Given the description of an element on the screen output the (x, y) to click on. 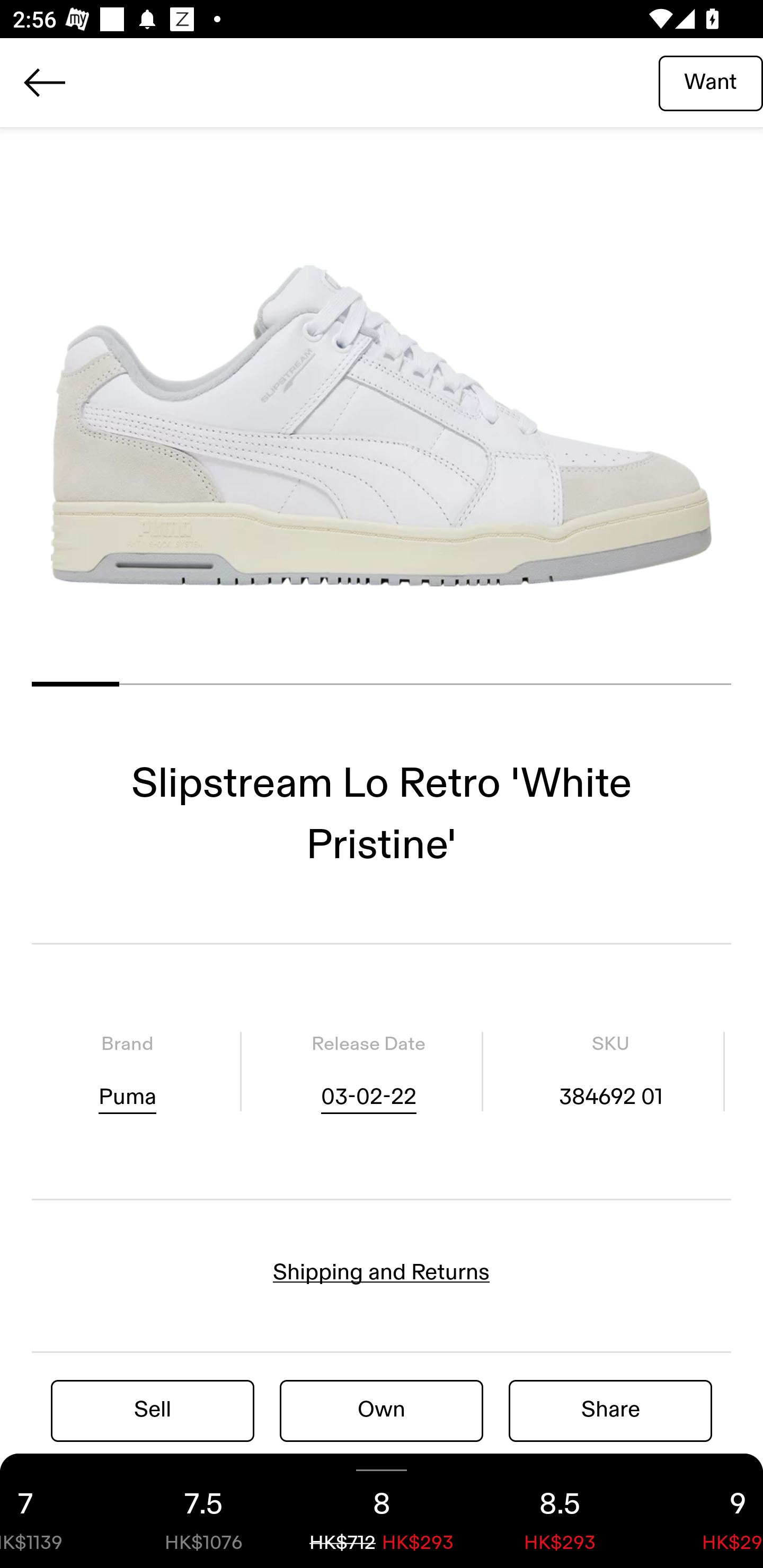
Want (710, 82)
Brand Puma (126, 1070)
Release Date 03-02-22 (368, 1070)
SKU 384692 01 (609, 1070)
Shipping and Returns (381, 1272)
Sell (152, 1410)
Own (381, 1410)
Share (609, 1410)
7 HK$1139 (57, 1510)
7.5 HK$1076 (203, 1510)
8 HK$712 HK$293 (381, 1510)
8.5 HK$293 (559, 1510)
9 HK$293 (705, 1510)
